Given the description of an element on the screen output the (x, y) to click on. 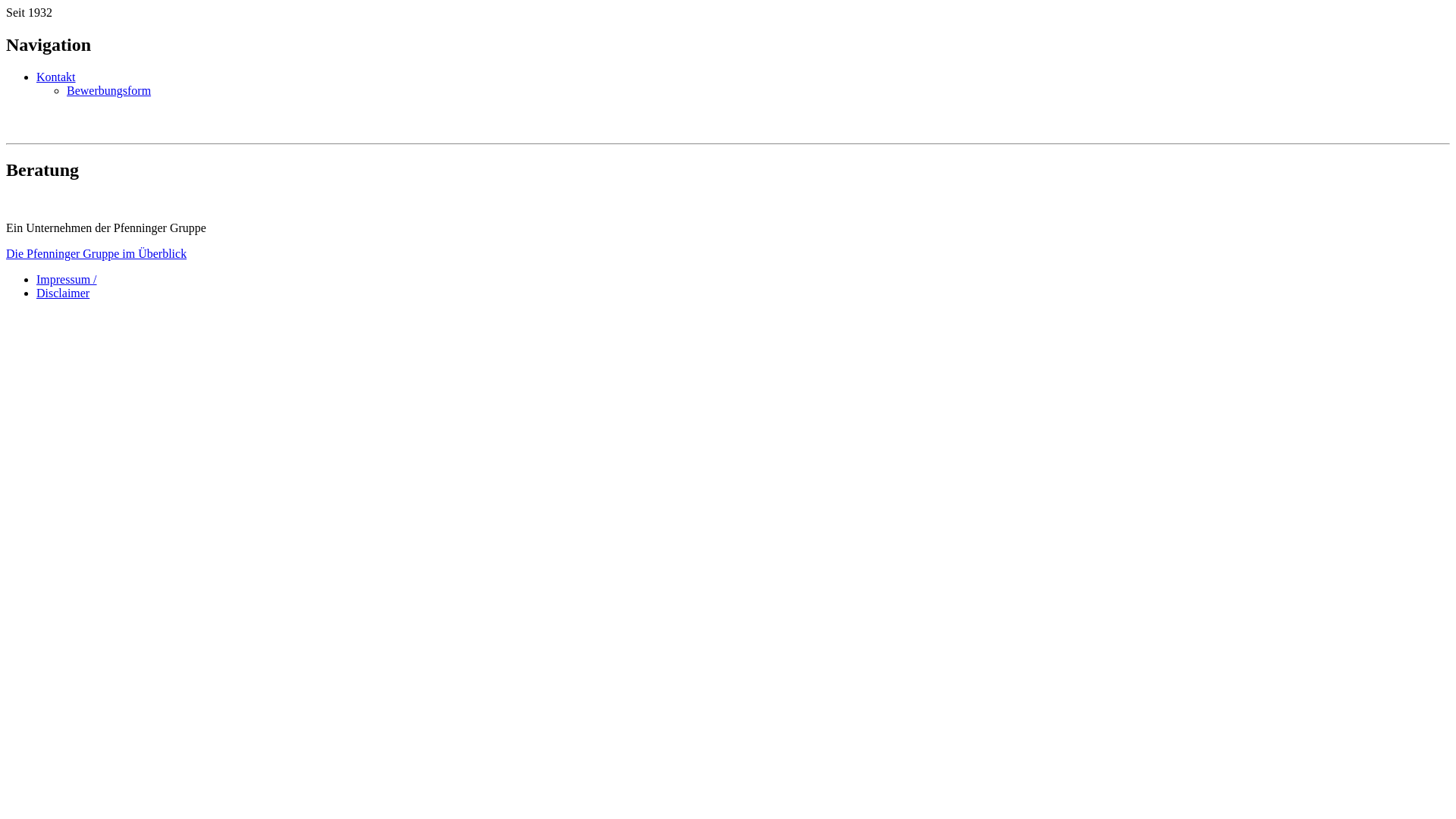
Disclaimer Element type: text (62, 292)
Impressum / Element type: text (66, 279)
Kontakt Element type: text (55, 76)
Bewerbungsform Element type: text (108, 90)
